Given the description of an element on the screen output the (x, y) to click on. 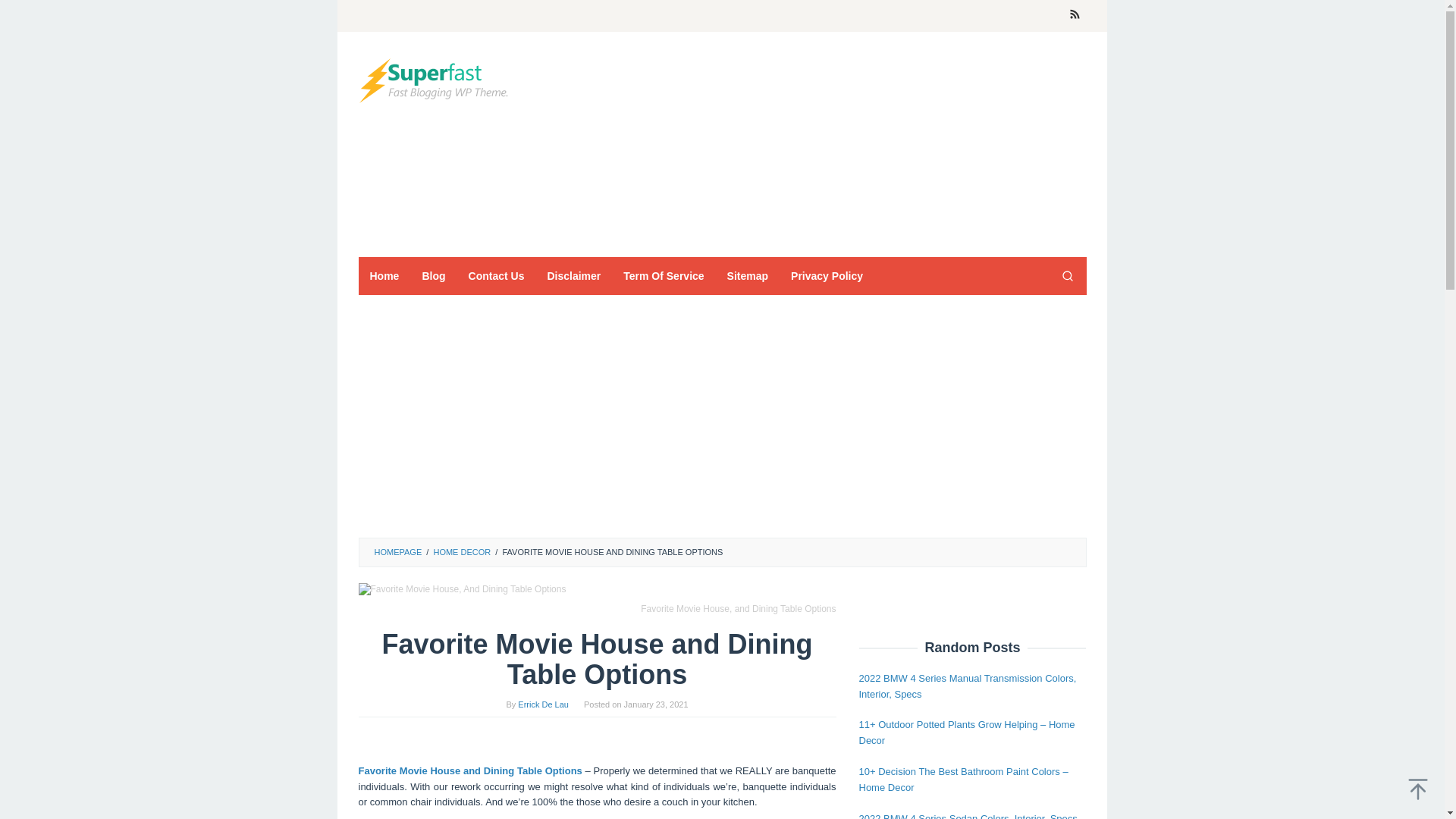
Search (1067, 275)
Contact Us (496, 275)
Term Of Service (662, 275)
Privacy Policy (826, 275)
HOMEPAGE (398, 551)
Permalink to: Errick De Lau (543, 704)
Favorite Movie House and Dining Table Options (469, 770)
Favorite Movie House, And Dining Table Options (462, 589)
Advertisement (646, 141)
Blog (433, 275)
HOME DECOR (461, 551)
Sitemap (747, 275)
Errick De Lau (543, 704)
BMW Release USA (433, 80)
